Given the description of an element on the screen output the (x, y) to click on. 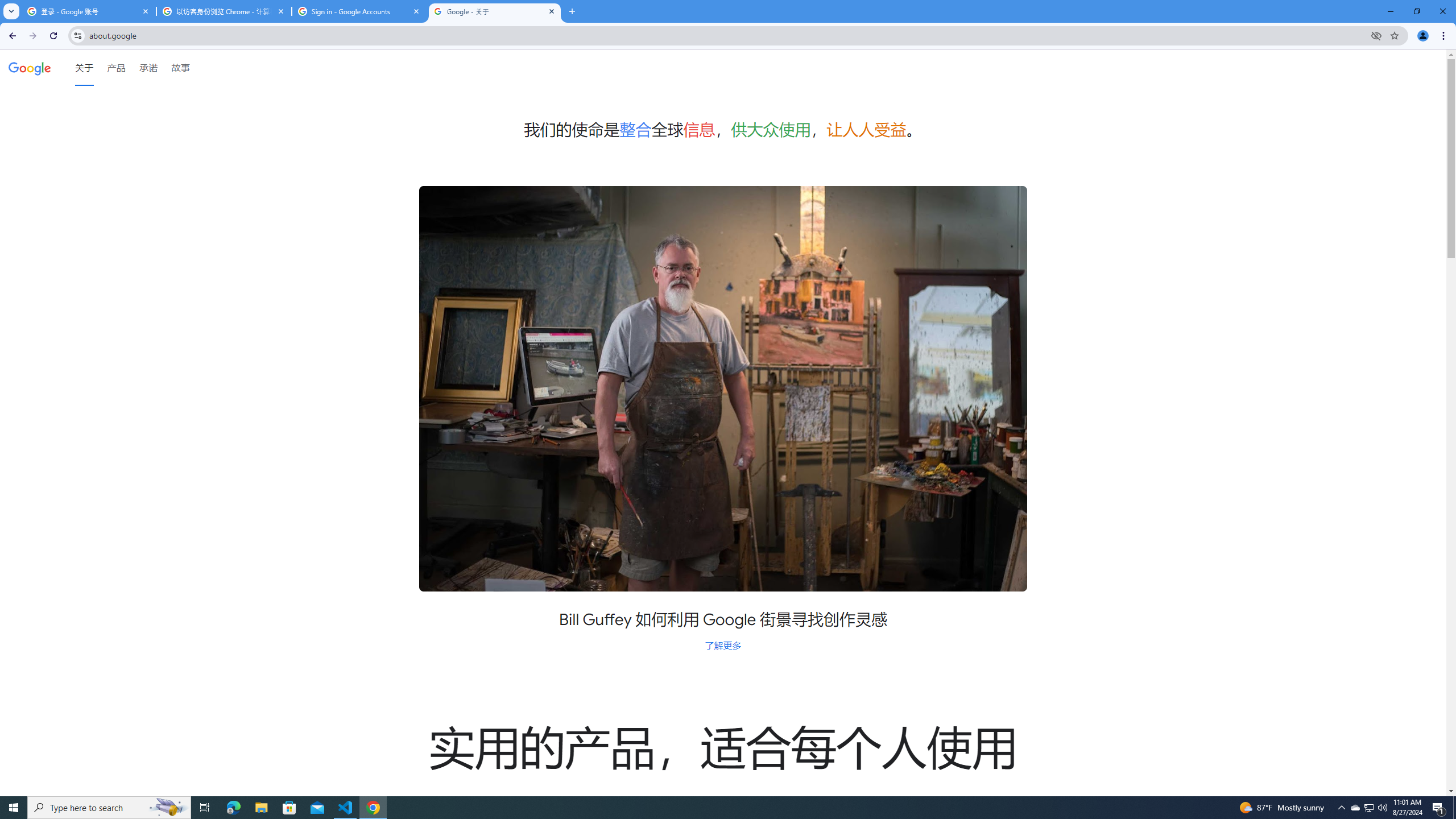
Sign in - Google Accounts (359, 11)
